Given the description of an element on the screen output the (x, y) to click on. 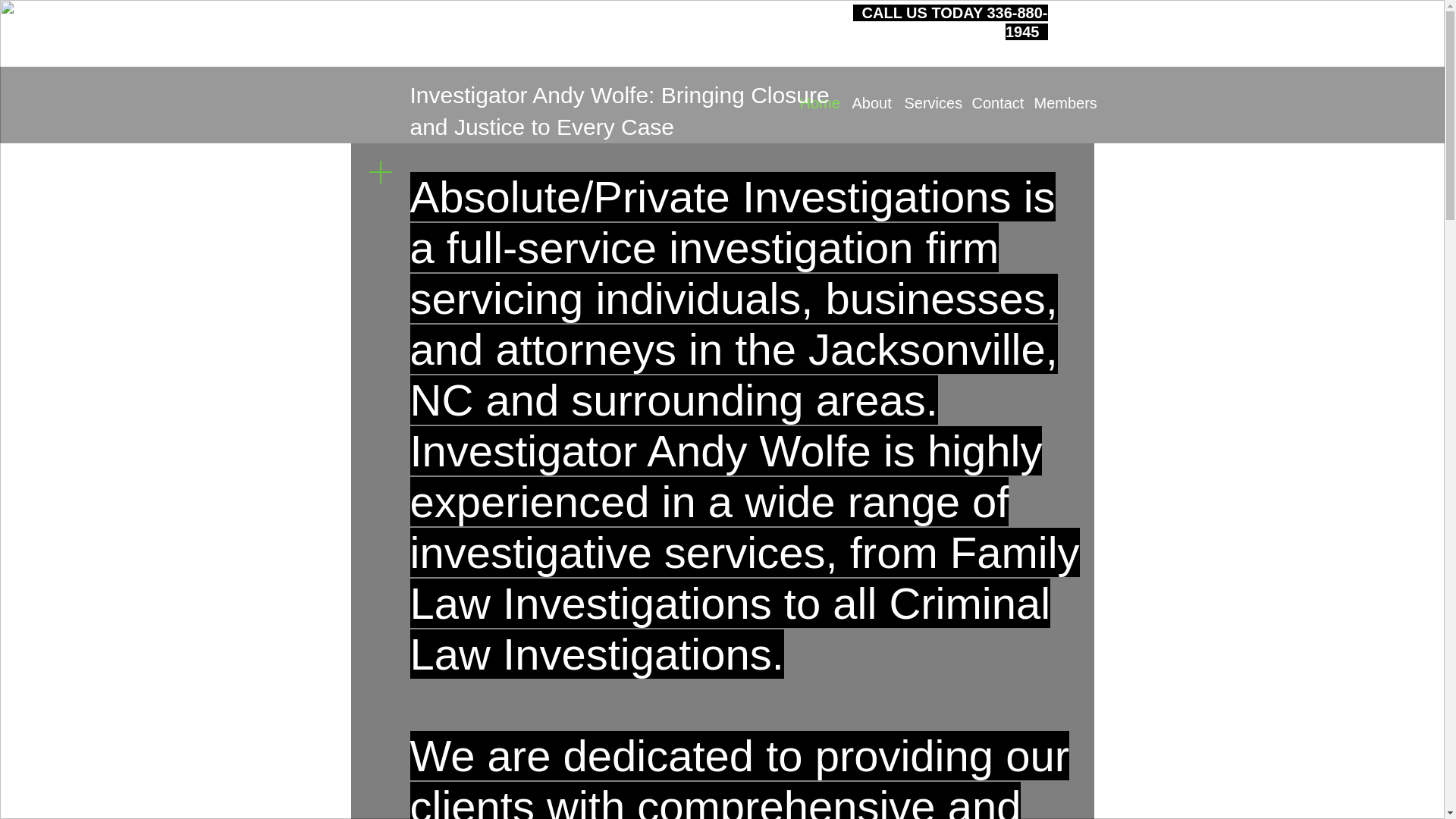
About (866, 103)
Home (815, 103)
Services (926, 103)
Contact (990, 103)
Members (1057, 103)
